Given the description of an element on the screen output the (x, y) to click on. 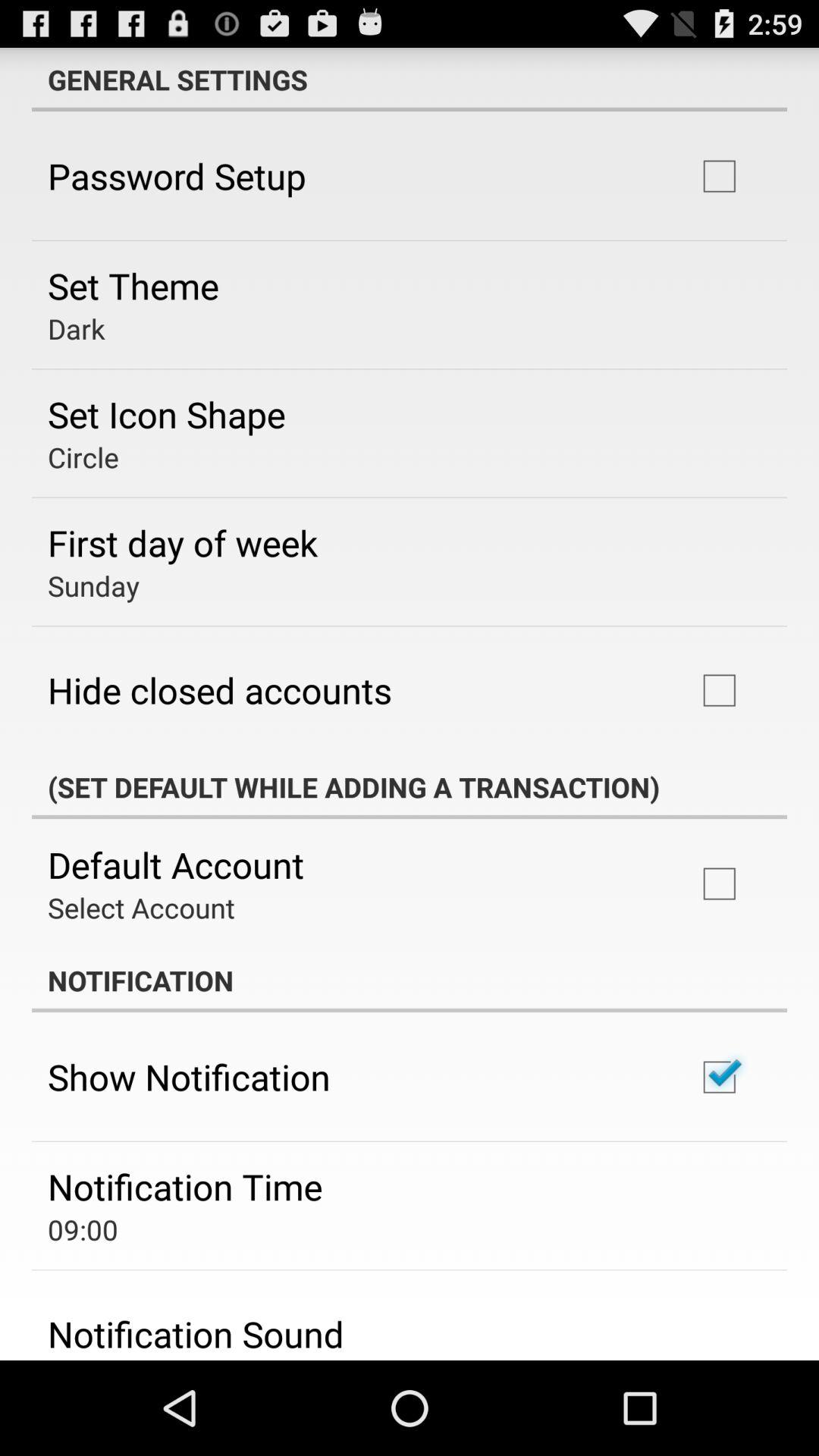
choose the app below the default account icon (140, 907)
